Given the description of an element on the screen output the (x, y) to click on. 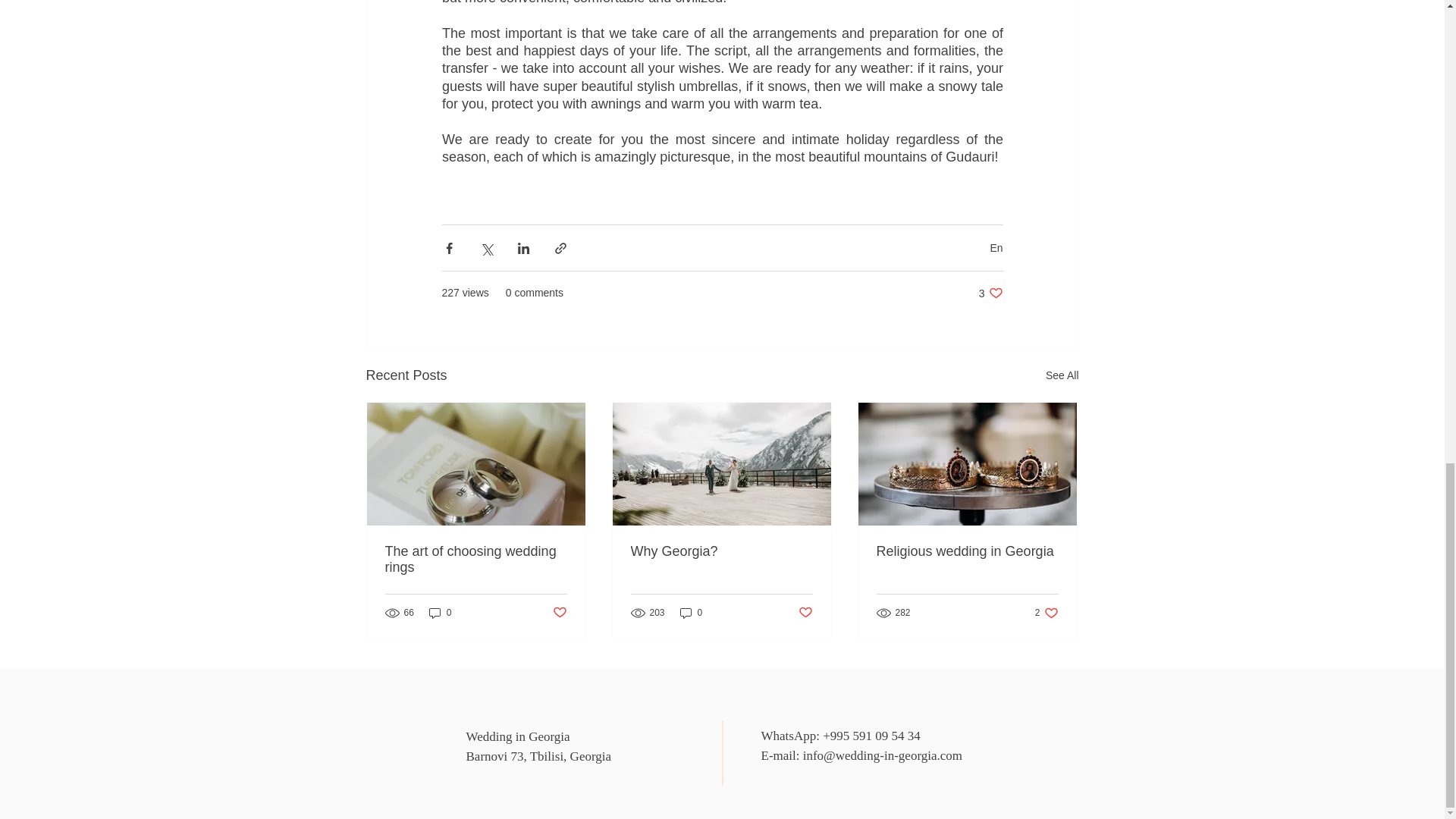
En (996, 247)
0 (1046, 612)
Post not marked as liked (990, 292)
0 (691, 612)
Barnovi 73, Tbilisi, Georgia (804, 612)
Religious wedding in Georgia (440, 612)
See All (538, 756)
The art of choosing wedding rings (967, 551)
